Given the description of an element on the screen output the (x, y) to click on. 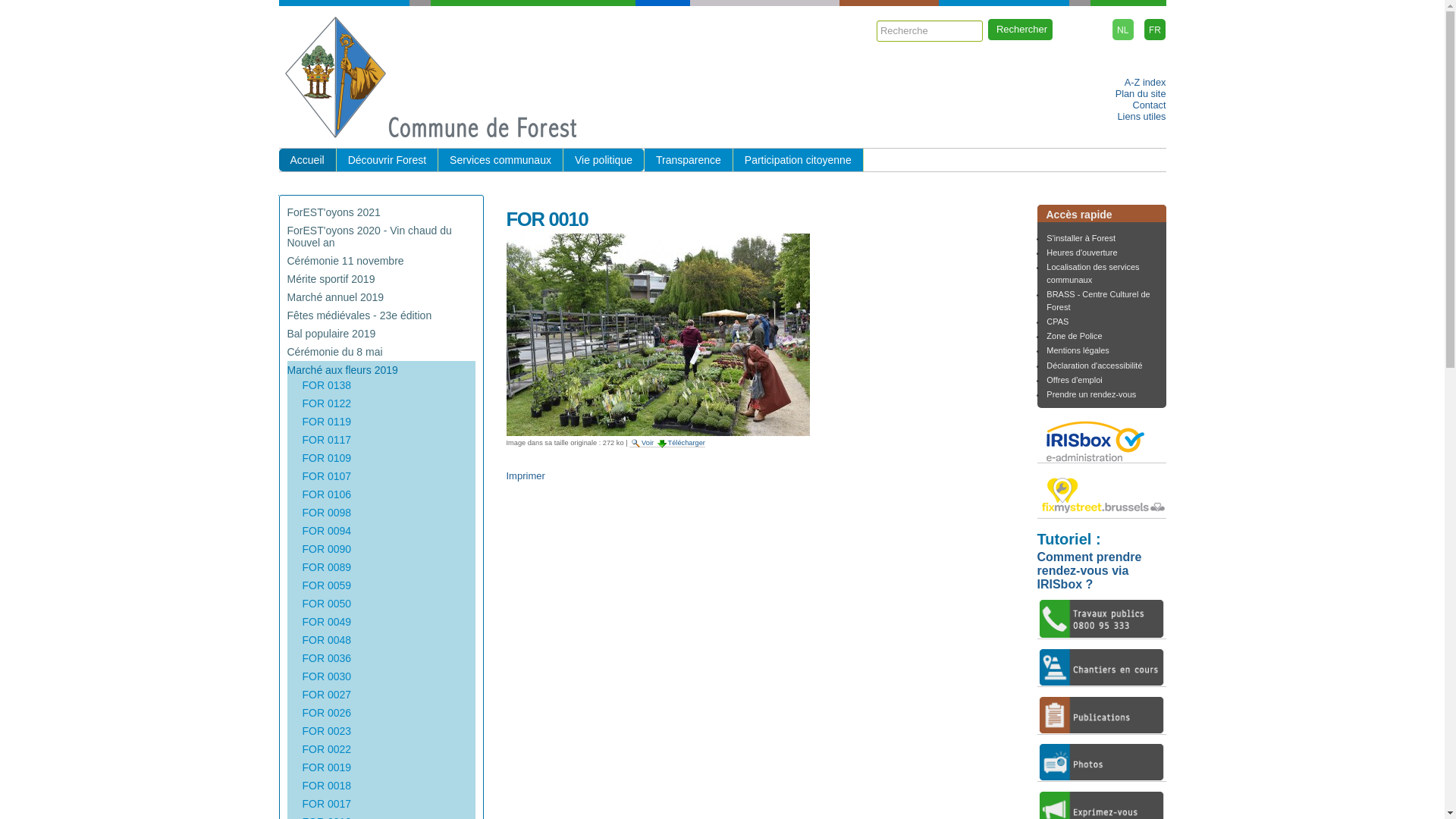
Heures d'ouverture Element type: text (1081, 252)
Vie politique Element type: text (603, 159)
ForEST'oyons 2020 - Vin chaud du Nouvel an Element type: text (368, 236)
A-Z index Element type: text (1145, 81)
FOR 0094 Element type: text (326, 530)
Bal populaire 2019 Element type: text (330, 333)
FOR 0138 Element type: text (326, 385)
FOR 0026 Element type: text (326, 712)
FOR 0027 Element type: text (326, 694)
ForEST'oyons 2021 Element type: text (332, 212)
publications Element type: hover (1101, 715)
Services communaux Element type: text (500, 159)
FOR 0018 Element type: text (326, 785)
Localisation des services communaux Element type: text (1092, 273)
Voir Element type: text (642, 443)
Plan du site Element type: text (1140, 93)
FOR 0107 Element type: text (326, 476)
FOR 0019 Element type: text (326, 767)
Prendre un rendez-vous Element type: text (1090, 393)
FOR 0036 Element type: text (326, 658)
FOR 0010 Element type: hover (657, 334)
Recherche Element type: hover (929, 30)
FOR 0117 Element type: text (326, 439)
Nederlands Element type: hover (1122, 29)
FOR 0050 Element type: text (326, 603)
Comment prendre rendez-vous via IRISbox ? Element type: text (1089, 570)
Transparence Element type: text (688, 159)
FOR 0059 Element type: text (326, 585)
FOR 0089 Element type: text (326, 567)
FOR 0022 Element type: text (326, 749)
FOR 0119 Element type: text (326, 421)
IRISbox Element type: hover (1101, 439)
Liens utiles Element type: text (1141, 116)
FOR 0122 Element type: text (326, 403)
FOR 0017 Element type: text (326, 803)
Offres d'emploi Element type: text (1073, 379)
FOR 0030 Element type: text (326, 676)
fixmystreet Element type: hover (1101, 494)
Zone de Police Element type: text (1073, 335)
CPAS Element type: text (1057, 321)
photos Element type: hover (1101, 762)
FOR 0049 Element type: text (326, 621)
FOR 0109 Element type: text (326, 457)
travaux publics Element type: hover (1101, 618)
FOR 0048 Element type: text (326, 639)
FOR 0098 Element type: text (326, 512)
Contact Element type: text (1148, 104)
Participation citoyenne Element type: text (798, 159)
Accueil Element type: text (307, 159)
BRASS - Centre Culturel de Forest Element type: text (1097, 300)
Imprimer Element type: text (525, 475)
FOR 0106 Element type: text (326, 494)
Voir l'image Element type: hover (635, 443)
FOR 0023 Element type: text (326, 730)
chantiers en cours Element type: hover (1101, 667)
FOR 0090 Element type: text (326, 548)
Rechercher Element type: text (1020, 29)
